Given the description of an element on the screen output the (x, y) to click on. 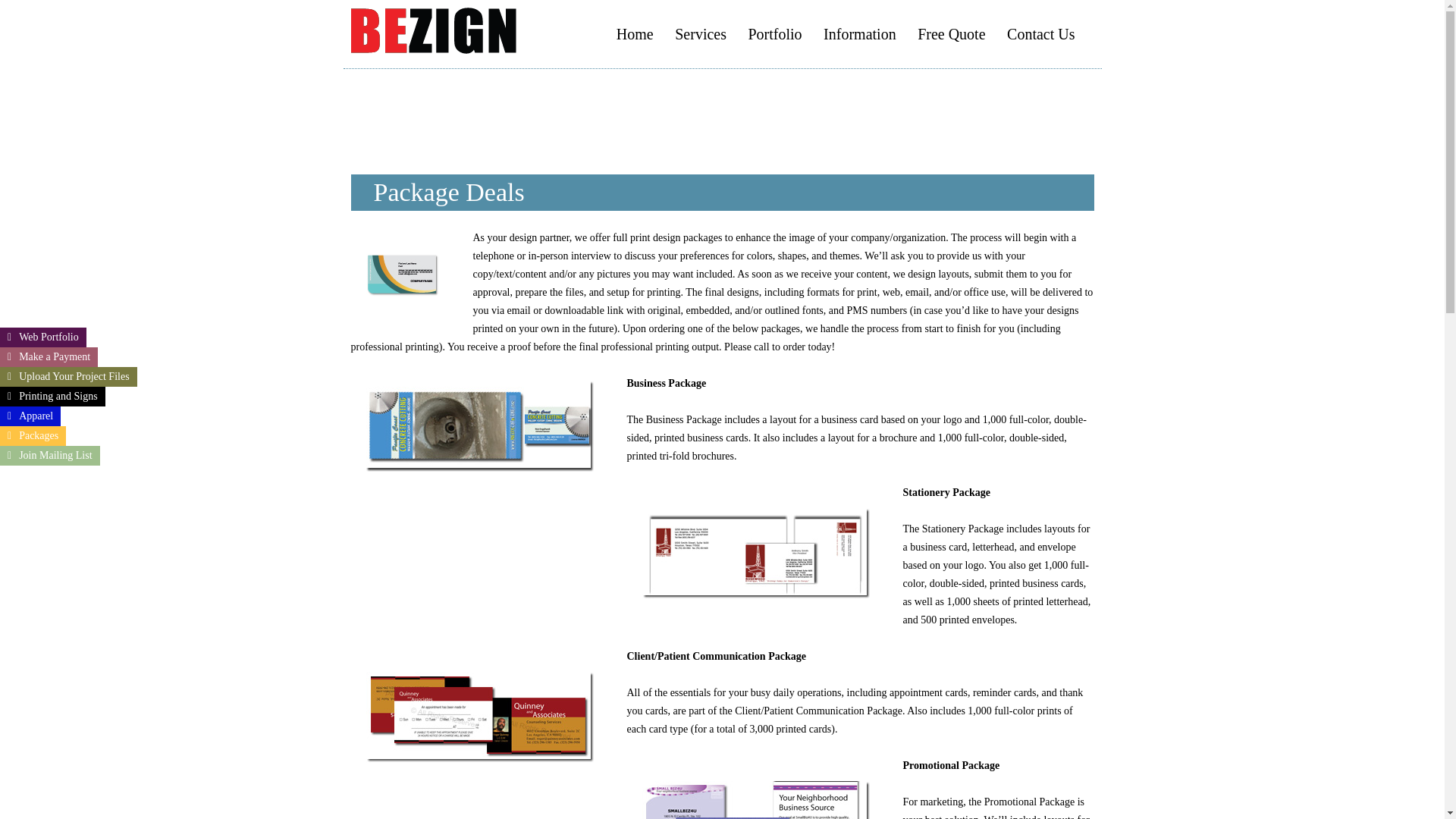
Join Mailing List (50, 455)
Free Quote (951, 33)
Website Quote (994, 86)
Printing and Signs (52, 396)
Upload Your Project Files (68, 376)
Packages (32, 435)
Make a Payment (48, 356)
About Us (899, 86)
Information (860, 33)
Contact Us (1040, 33)
